Given the description of an element on the screen output the (x, y) to click on. 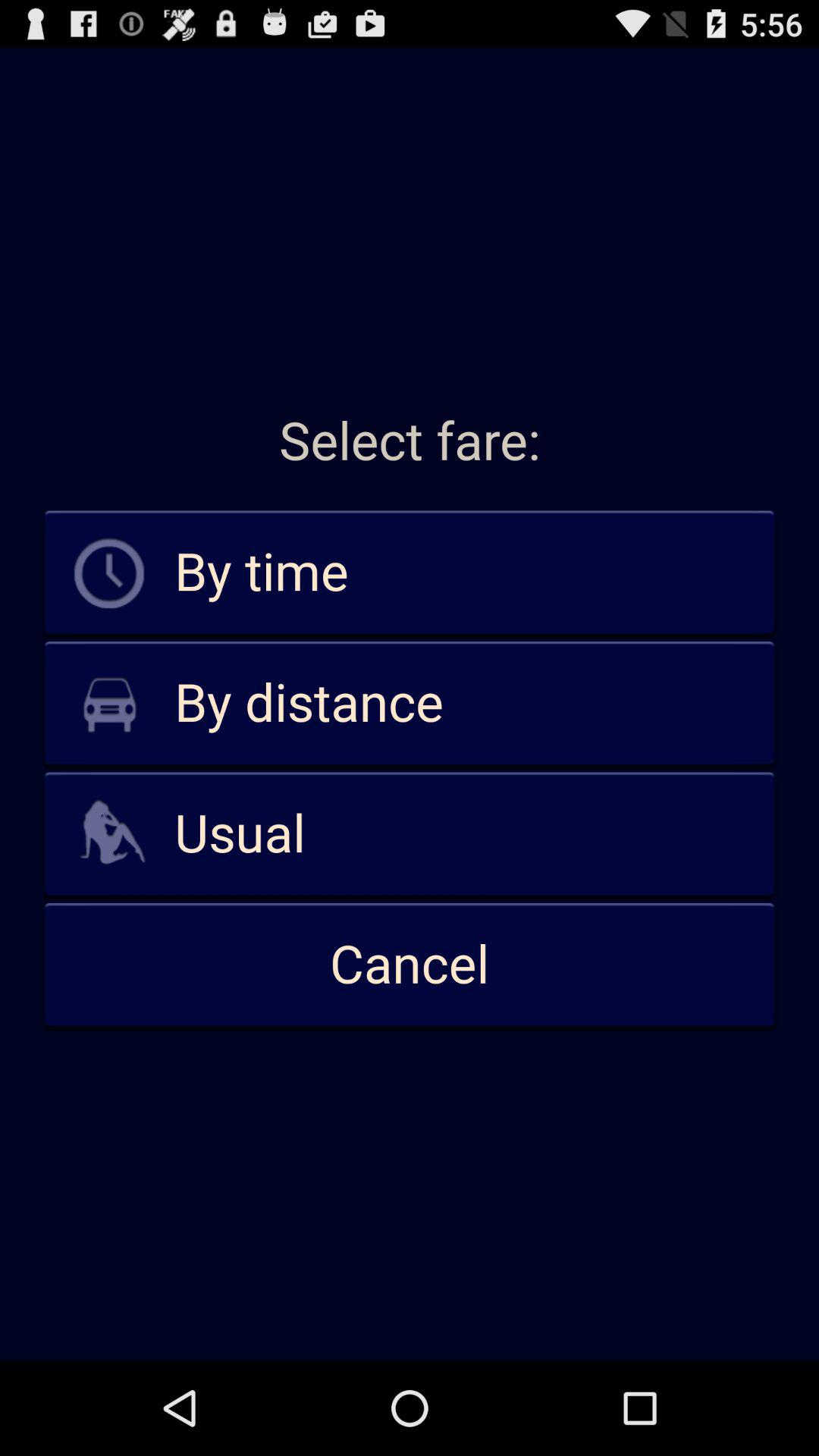
click icon below the by time icon (409, 703)
